Given the description of an element on the screen output the (x, y) to click on. 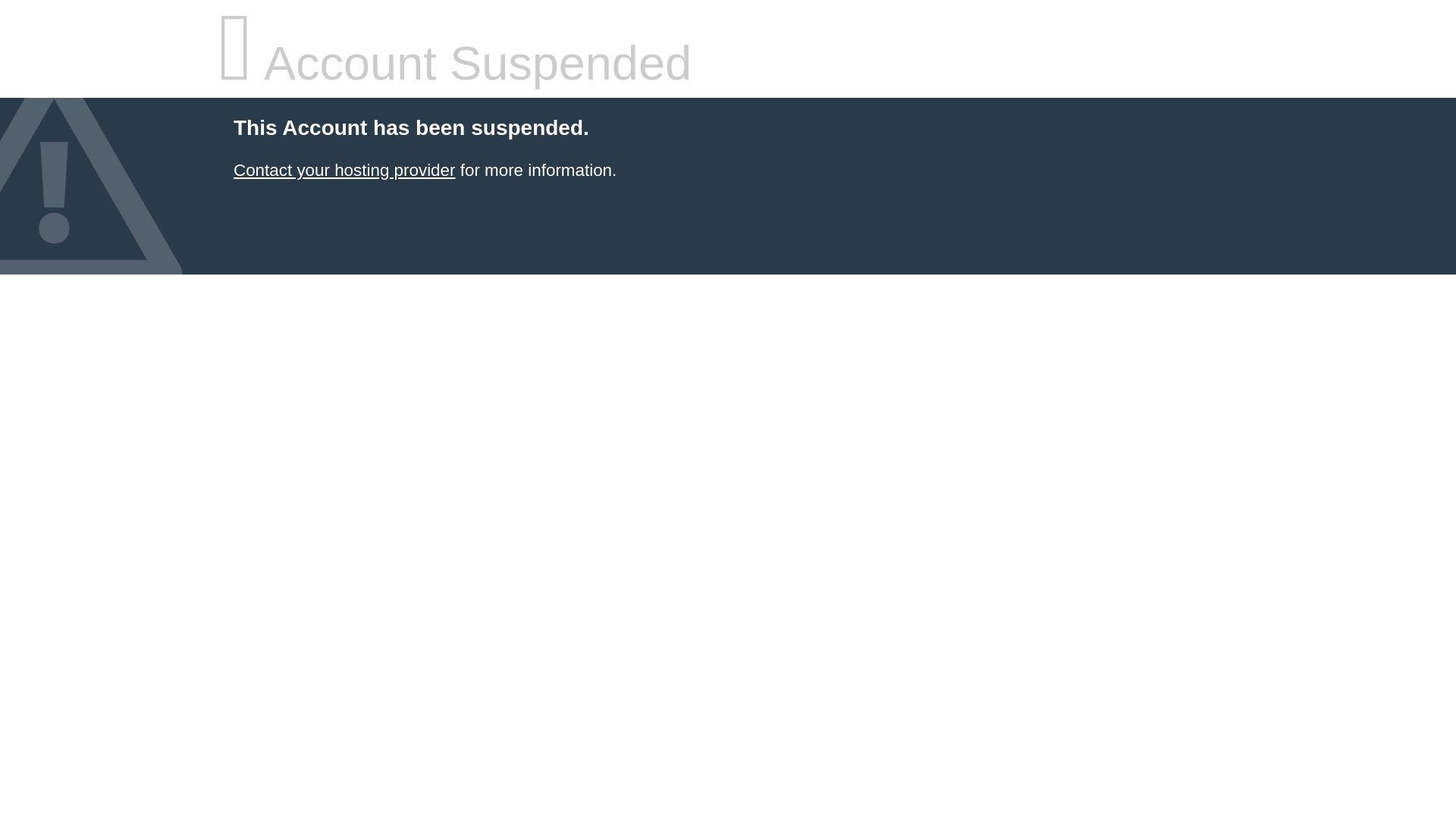
Contact your hosting provider (343, 169)
